Given the description of an element on the screen output the (x, y) to click on. 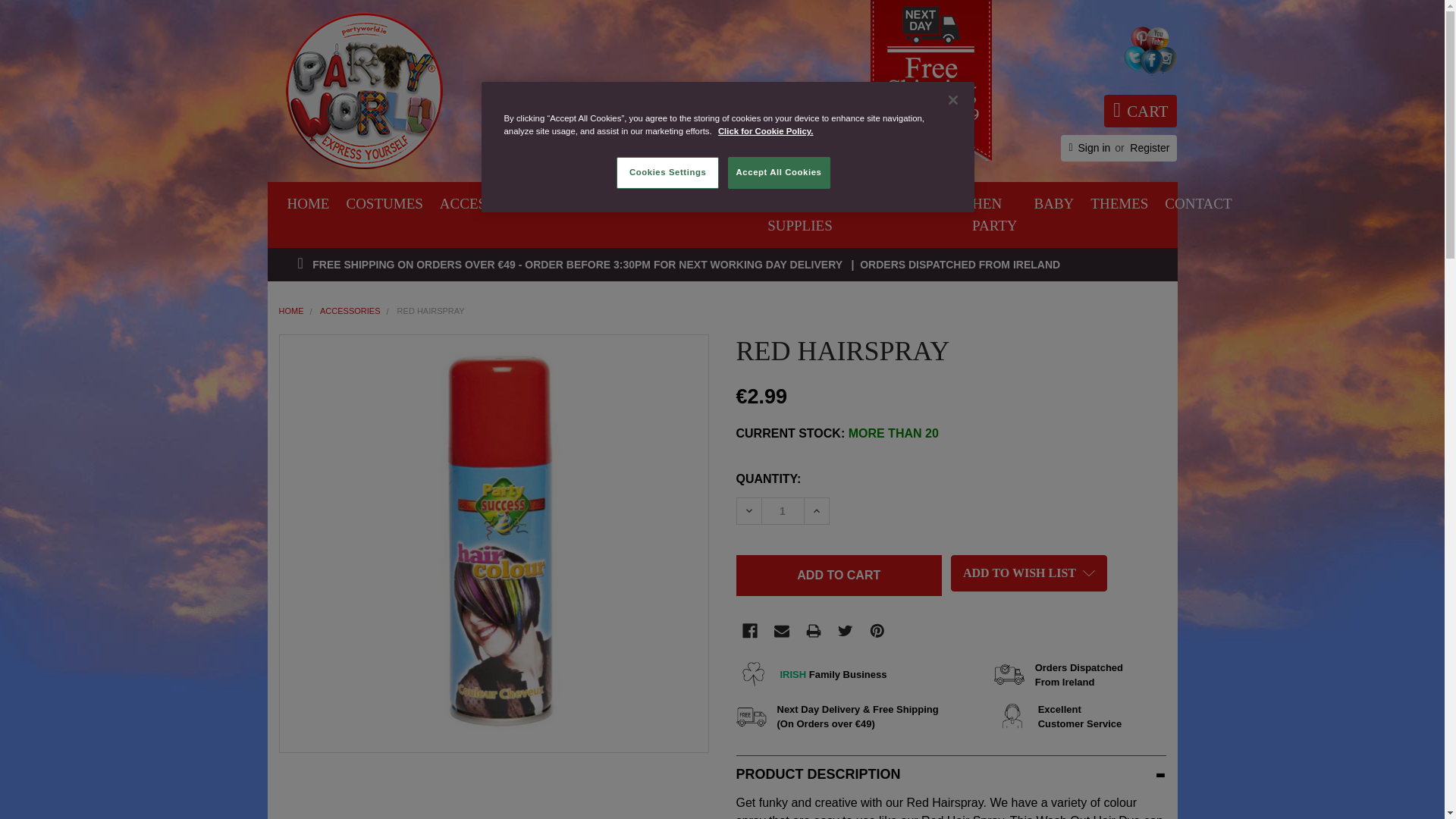
Add to Cart (838, 575)
Cart (1139, 111)
Search (660, 139)
HOME (308, 203)
Search (660, 139)
PartyWorld (363, 90)
1 (782, 510)
COSTUMES (383, 203)
Customer reviews powered by Trustpilot (619, 104)
Sign in (1093, 148)
Register (755, 139)
CART (1149, 148)
